Given the description of an element on the screen output the (x, y) to click on. 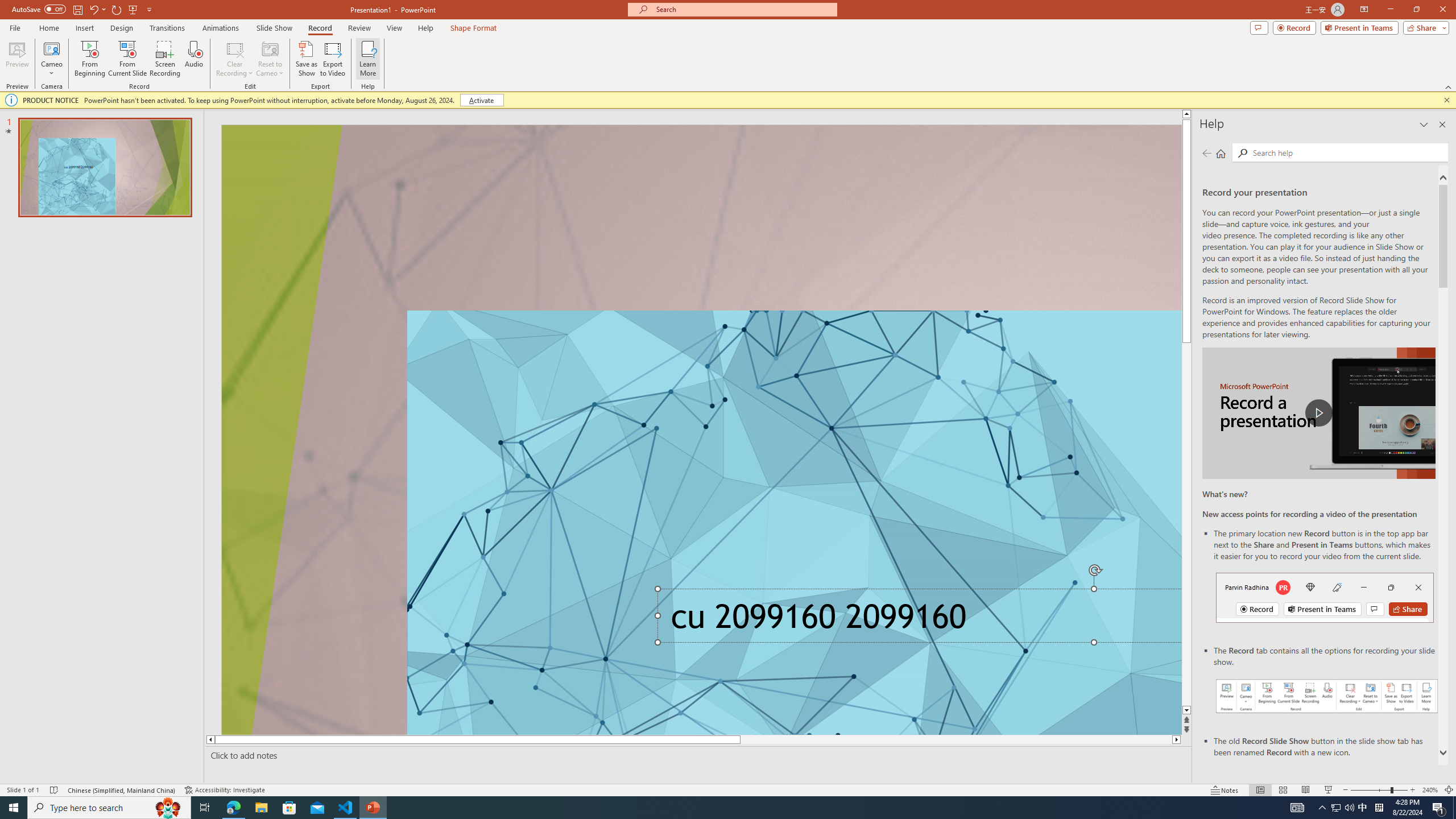
Activate (481, 100)
